Given the description of an element on the screen output the (x, y) to click on. 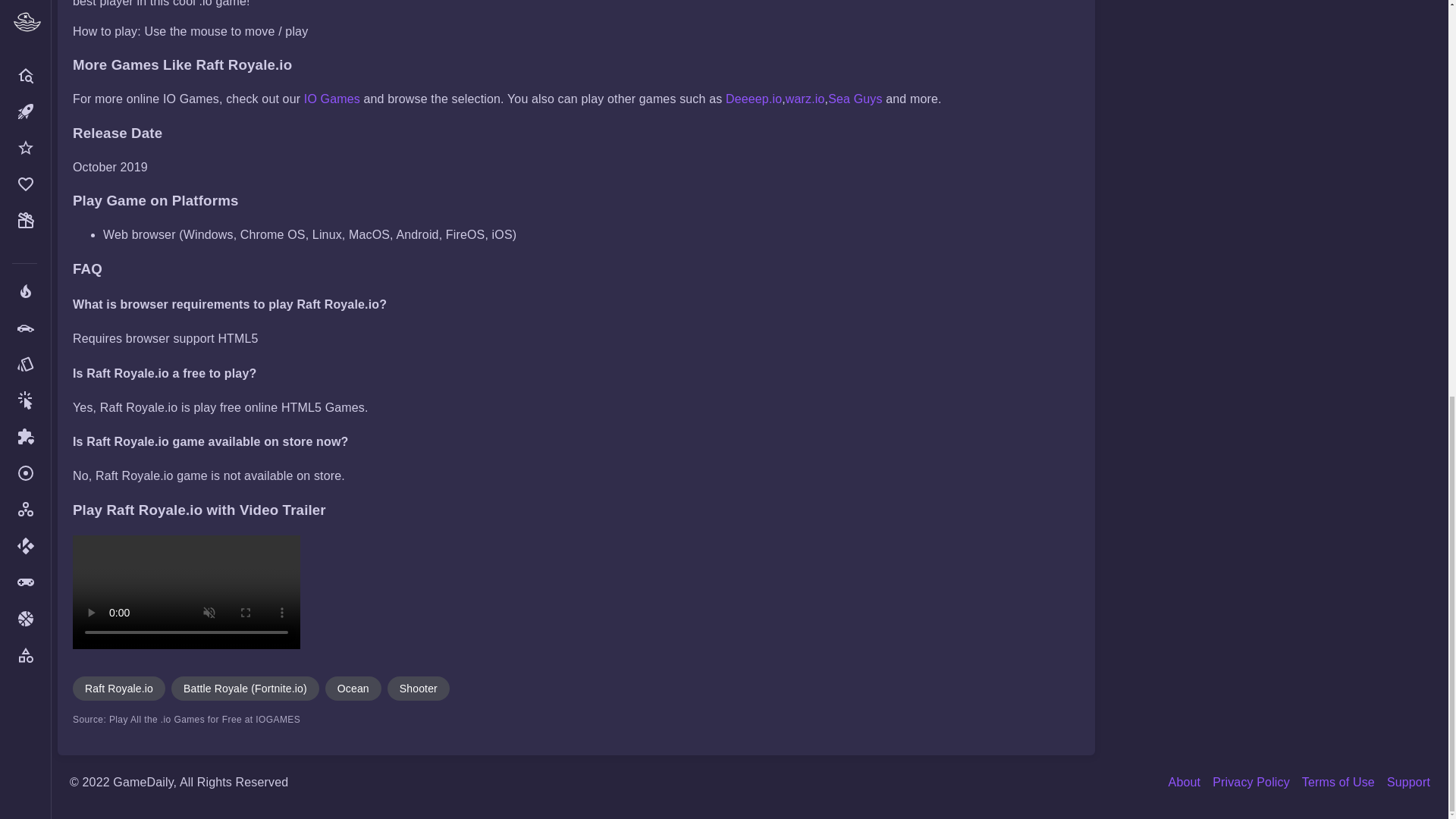
Ocean (352, 688)
warz.io (805, 98)
Sea Guys (855, 98)
IO Games (331, 98)
Raft Royale.io (118, 688)
Deeeep.io (753, 98)
Shooter (418, 688)
